Given the description of an element on the screen output the (x, y) to click on. 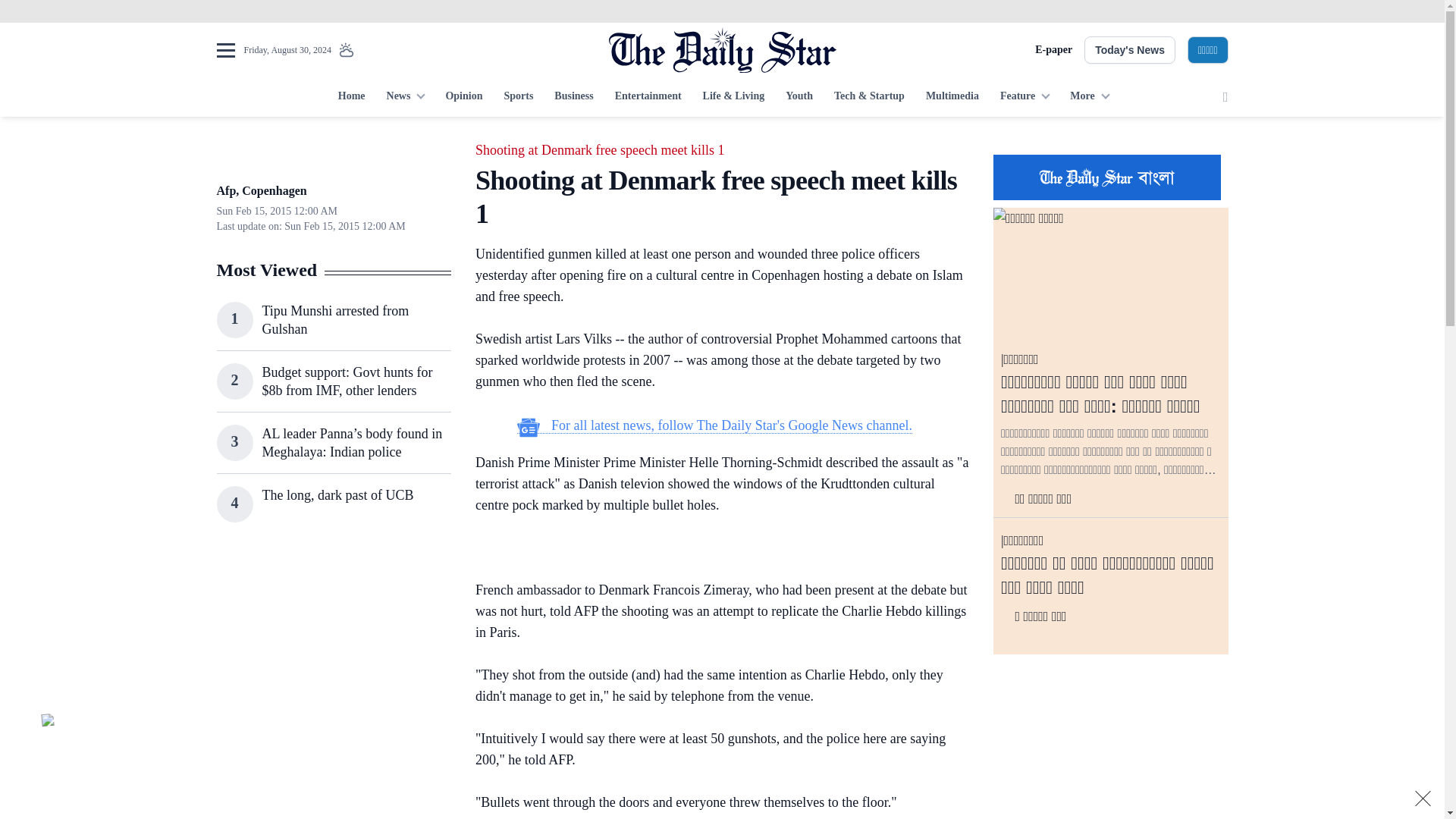
Opinion (463, 96)
Home (351, 96)
Youth (799, 96)
Feature (1024, 96)
News (405, 96)
Entertainment (647, 96)
Sports (518, 96)
Multimedia (952, 96)
Business (573, 96)
